Given the description of an element on the screen output the (x, y) to click on. 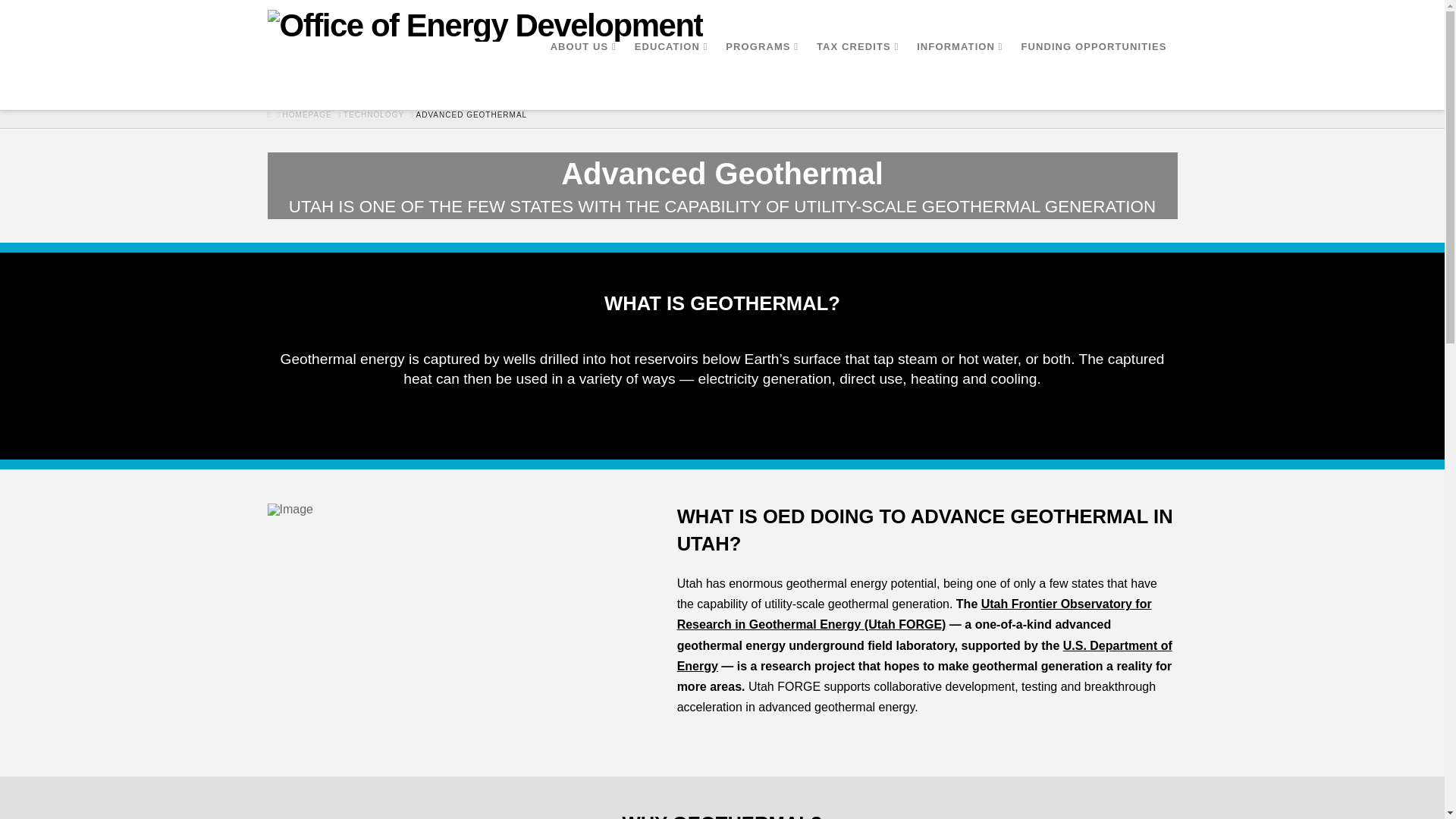
You Are Here (471, 114)
TAX CREDITS (858, 75)
INFORMATION (960, 75)
FUNDING OPPORTUNITIES (1094, 75)
EDUCATION (673, 75)
ABOUT US (585, 75)
PROGRAMS (763, 75)
